Given the description of an element on the screen output the (x, y) to click on. 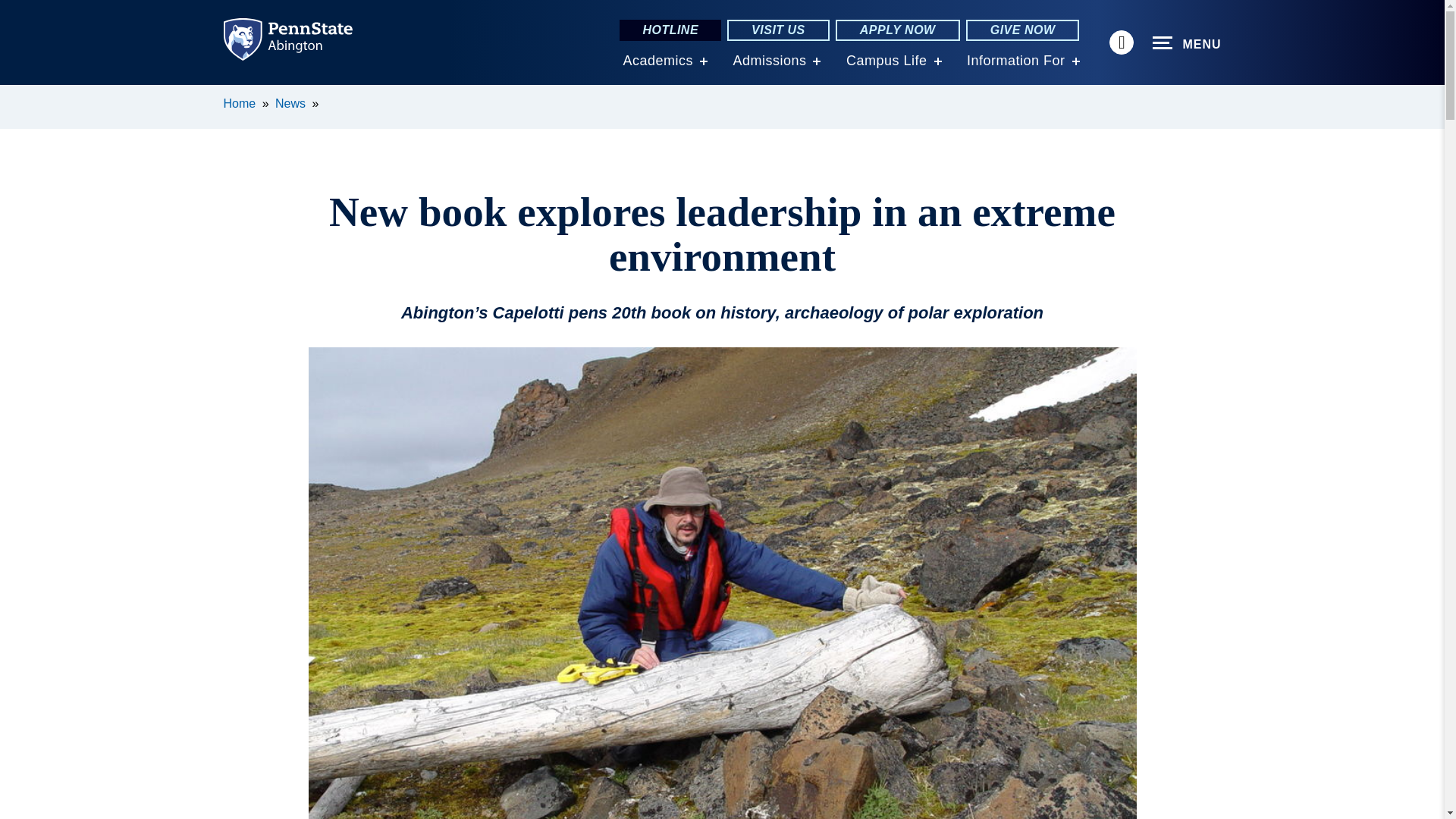
Academics (658, 60)
VISIT US (777, 29)
HOTLINE (670, 29)
Admissions (769, 60)
Campus Life (886, 60)
APPLY NOW (897, 29)
MENU (1187, 43)
SKIP TO MAIN CONTENT (19, 95)
GIVE NOW (1023, 29)
